Given the description of an element on the screen output the (x, y) to click on. 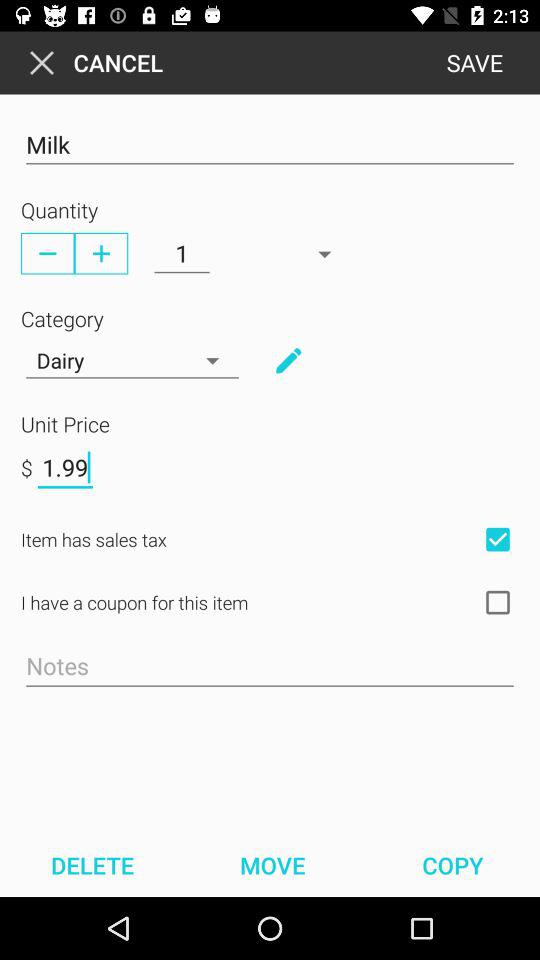
shopping notes (270, 667)
